Given the description of an element on the screen output the (x, y) to click on. 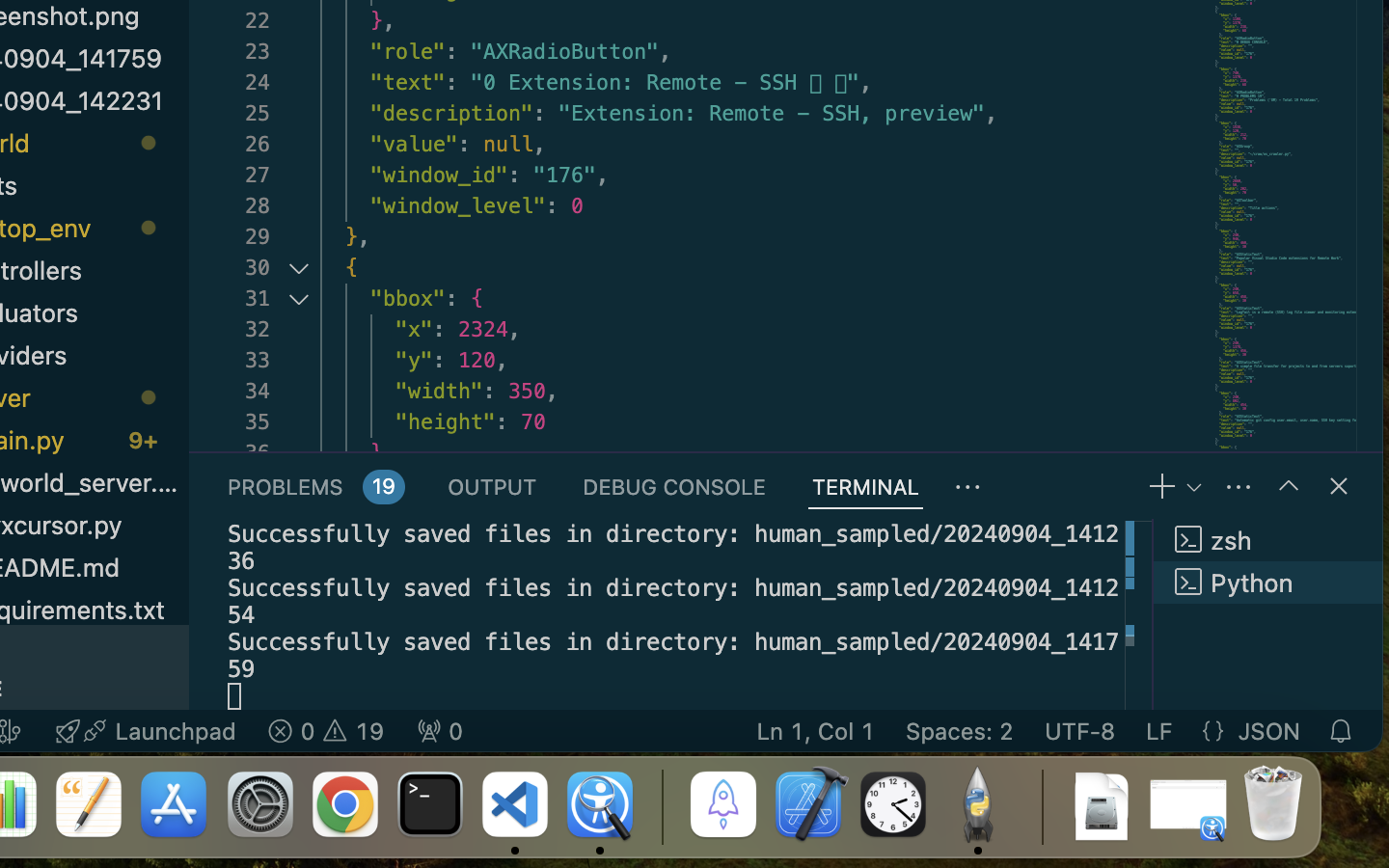
 Element type: AXCheckBox (1288, 485)
 Element type: AXButton (1338, 485)
19  0  Element type: AXButton (325, 730)
